Given the description of an element on the screen output the (x, y) to click on. 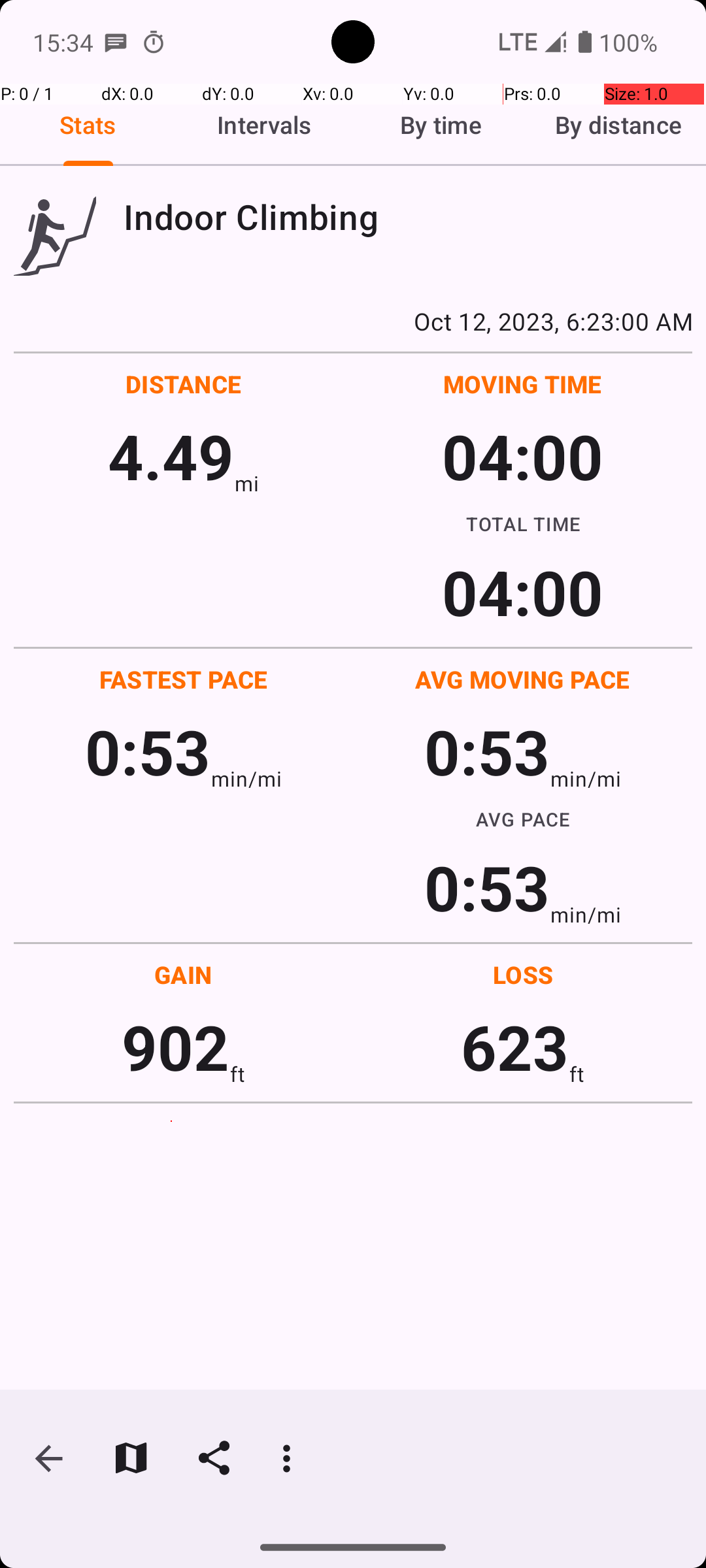
Indoor Climbing Element type: android.widget.TextView (407, 216)
Oct 12, 2023, 6:23:00 AM Element type: android.widget.TextView (352, 320)
4.49 Element type: android.widget.TextView (170, 455)
04:00 Element type: android.widget.TextView (522, 455)
0:53 Element type: android.widget.TextView (147, 750)
902 Element type: android.widget.TextView (175, 1045)
623 Element type: android.widget.TextView (514, 1045)
